Given the description of an element on the screen output the (x, y) to click on. 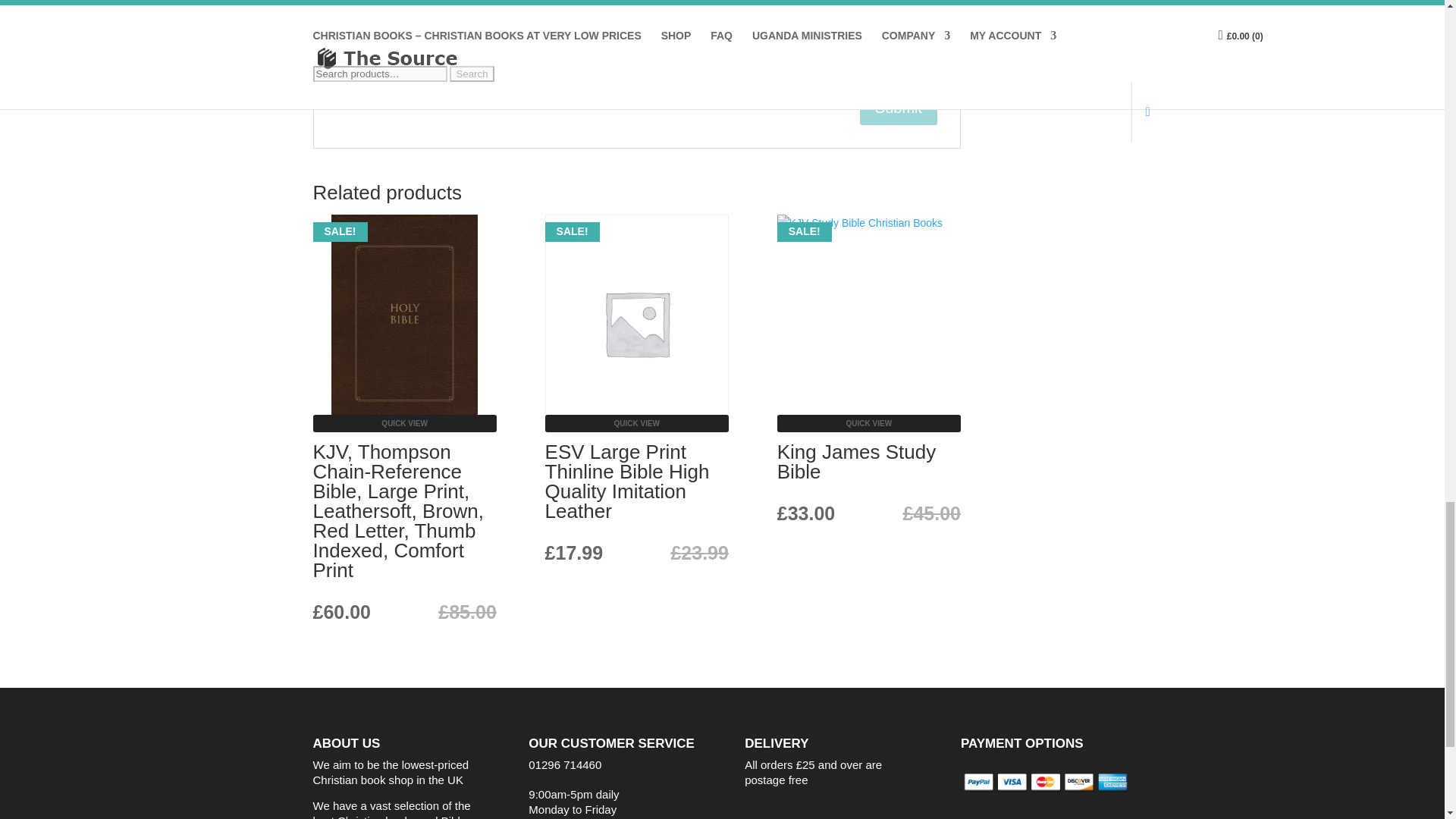
yes (344, 61)
Submit (898, 107)
QUICK VIEW (636, 423)
QUICK VIEW (404, 423)
Submit (898, 107)
QUICK VIEW (868, 423)
